Given the description of an element on the screen output the (x, y) to click on. 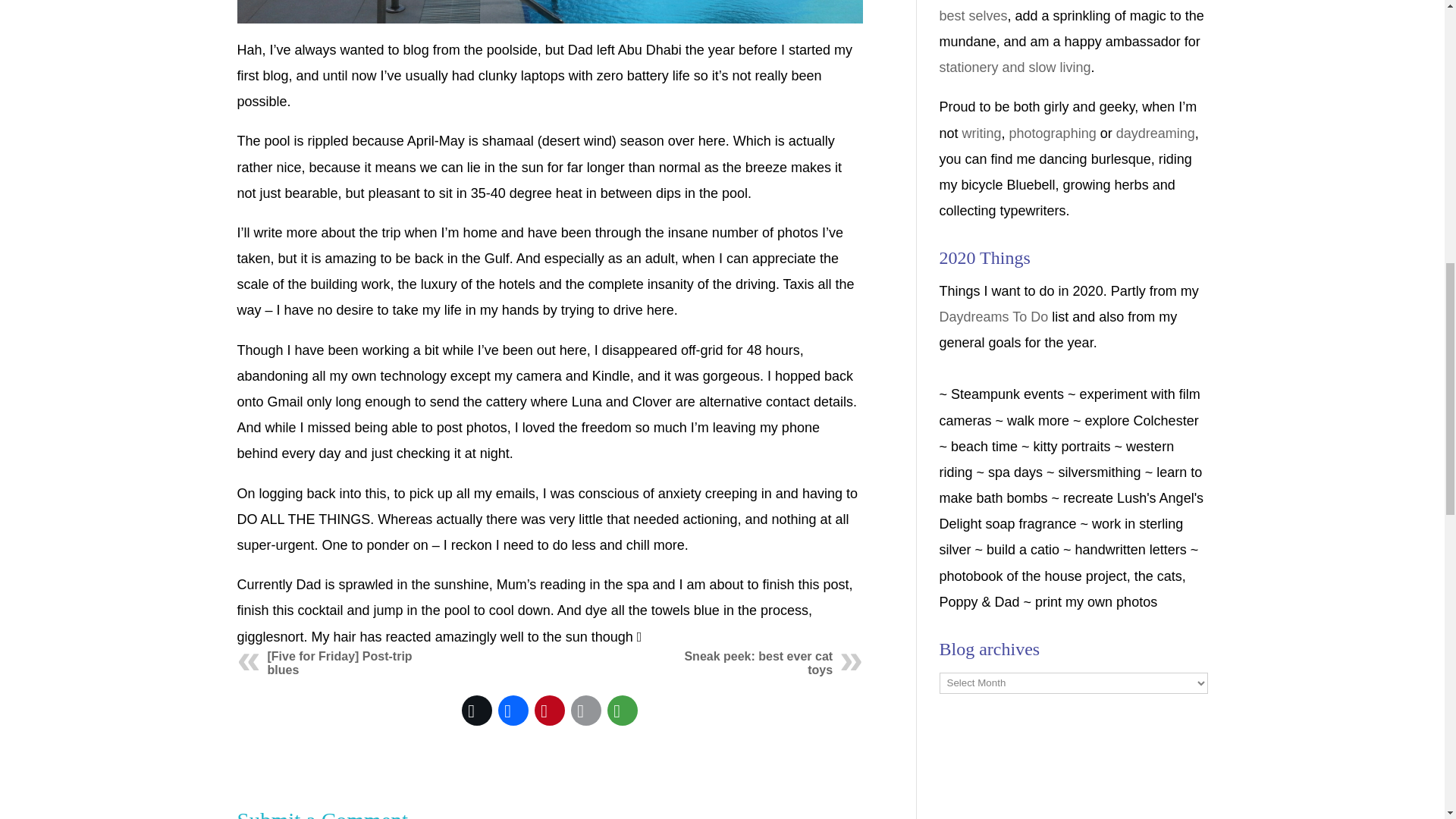
More Options (622, 710)
stationery and slow living (1014, 67)
wp-1400150086374.jpg (549, 11)
writing (981, 133)
Facebook (513, 710)
Pinterest (549, 710)
see and step into their brightest and best selves (1071, 11)
Sneak peek: best ever cat toys (758, 663)
Email This (585, 710)
